Given the description of an element on the screen output the (x, y) to click on. 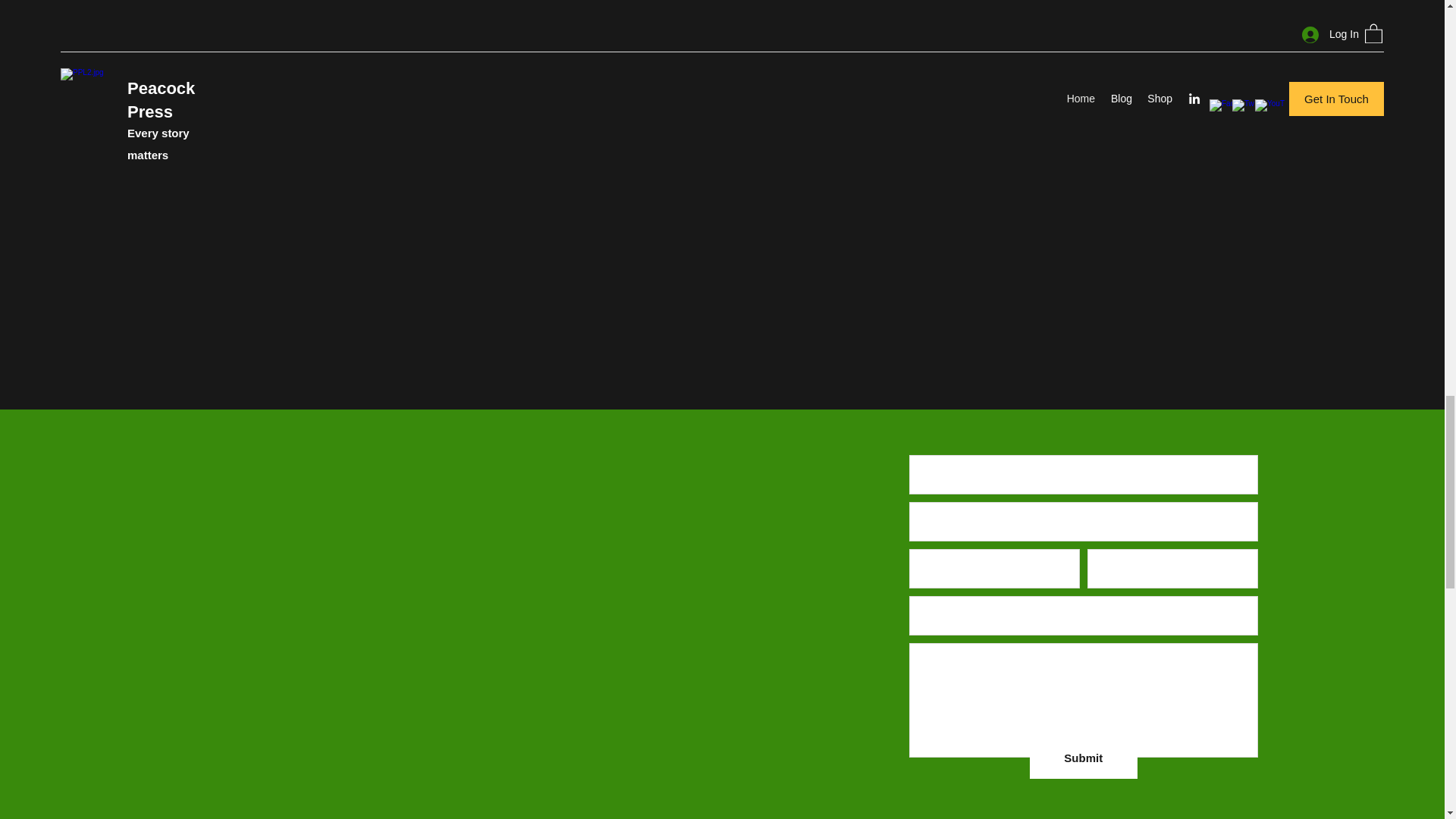
Submit (1083, 757)
